Given the description of an element on the screen output the (x, y) to click on. 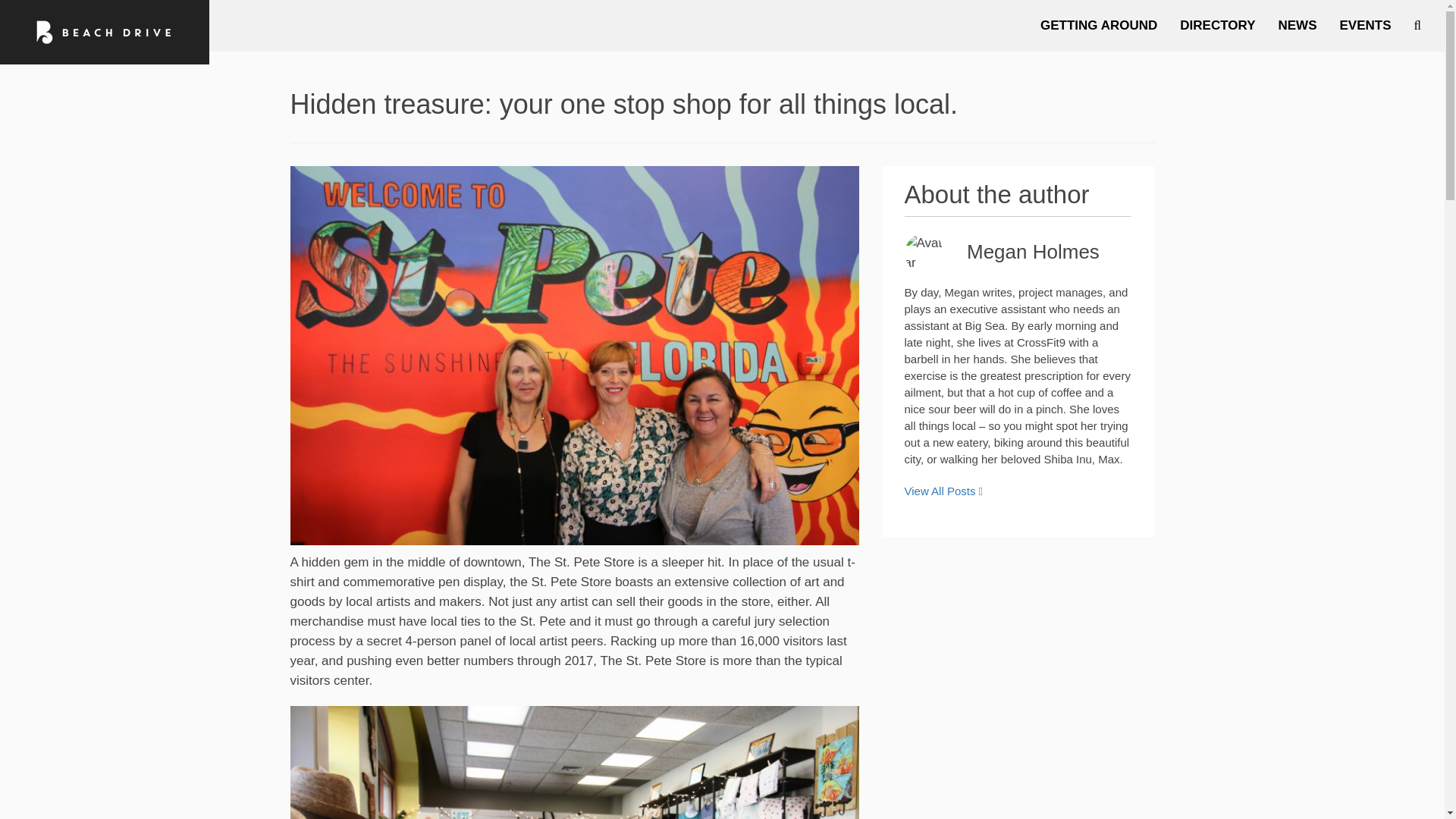
EVENTS (1364, 25)
NEWS (1296, 25)
GETTING AROUND (1099, 25)
Events (1364, 25)
News (1296, 25)
DIRECTORY (1217, 25)
Directory (1217, 25)
View All Posts (943, 490)
Getting Around (1099, 25)
Beach Drive (104, 32)
